Given the description of an element on the screen output the (x, y) to click on. 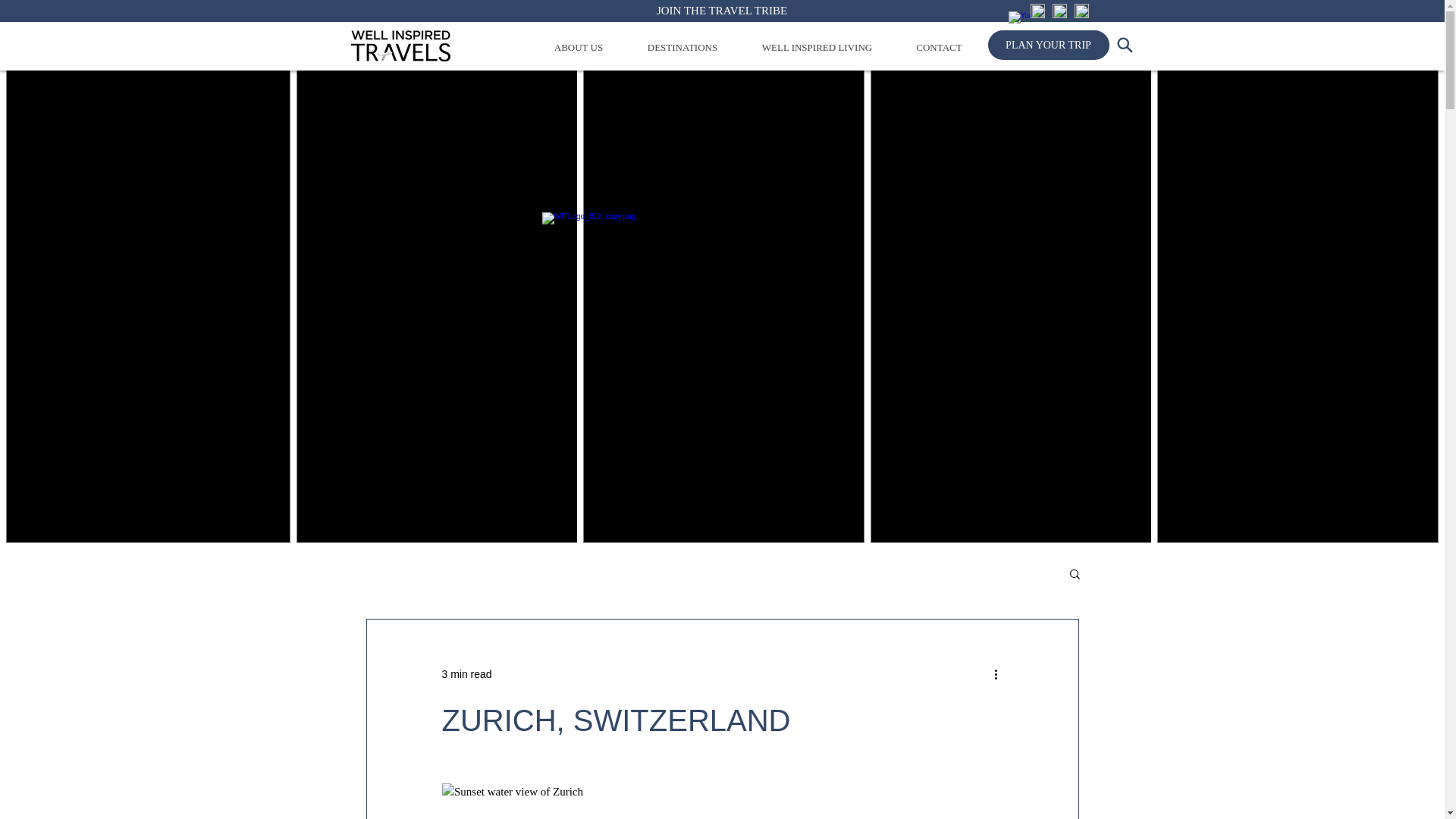
PLAN YOUR TRIP (1047, 44)
ABOUT US (579, 46)
DESTINATIONS (681, 46)
3 min read (466, 673)
JOIN THE TRAVEL TRIBE (722, 10)
CONTACT (939, 46)
WELL INSPIRED LIVING (817, 46)
